Given the description of an element on the screen output the (x, y) to click on. 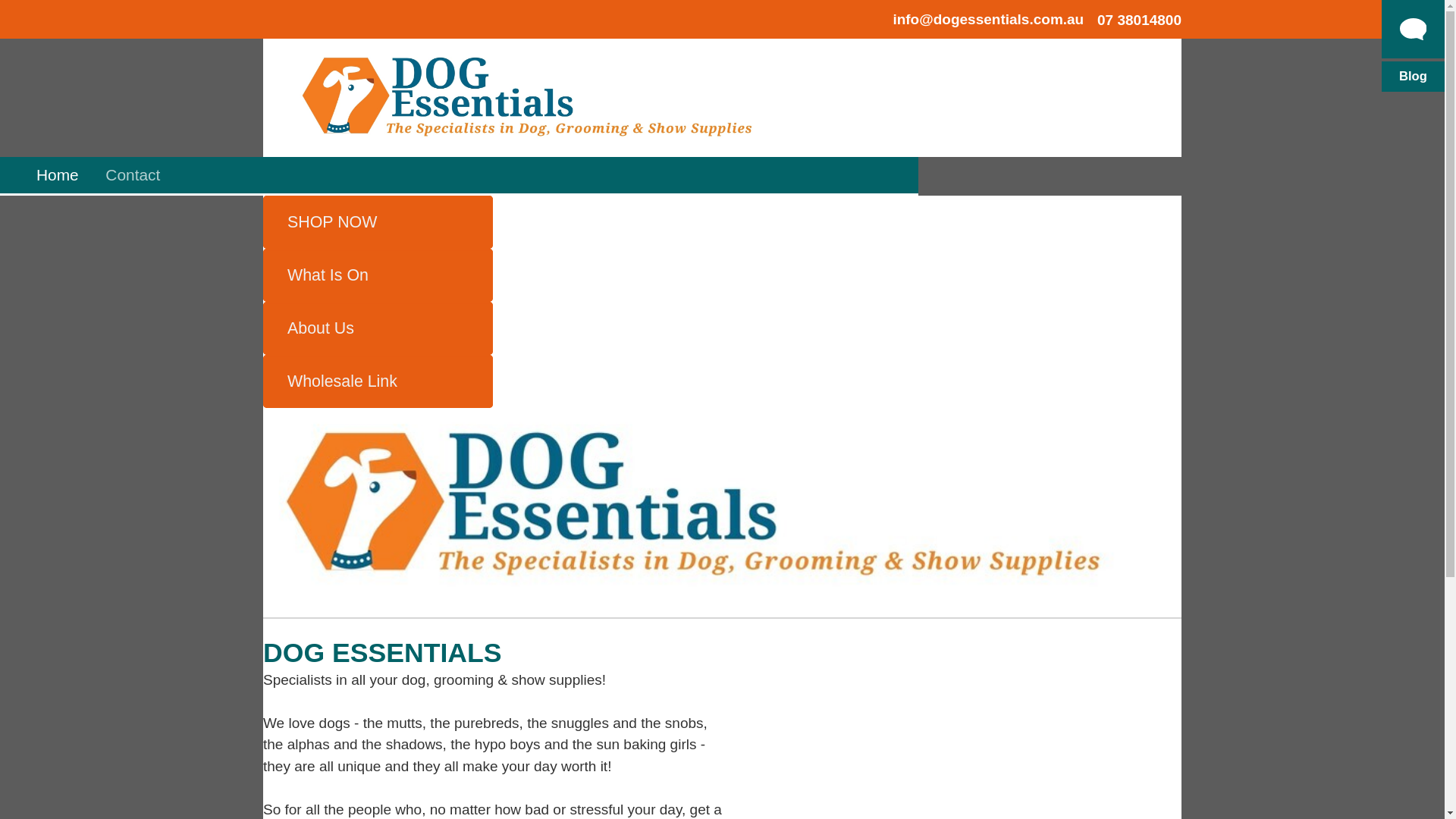
What Is On Element type: text (377, 274)
Blog Element type: text (1412, 76)
Contact Element type: text (132, 174)
info@dogessentials.com.au Element type: text (987, 20)
Home Element type: text (57, 174)
SHOP NOW Element type: text (377, 221)
Wholesale Link Element type: text (377, 380)
About Us Element type: text (377, 327)
